Given the description of an element on the screen output the (x, y) to click on. 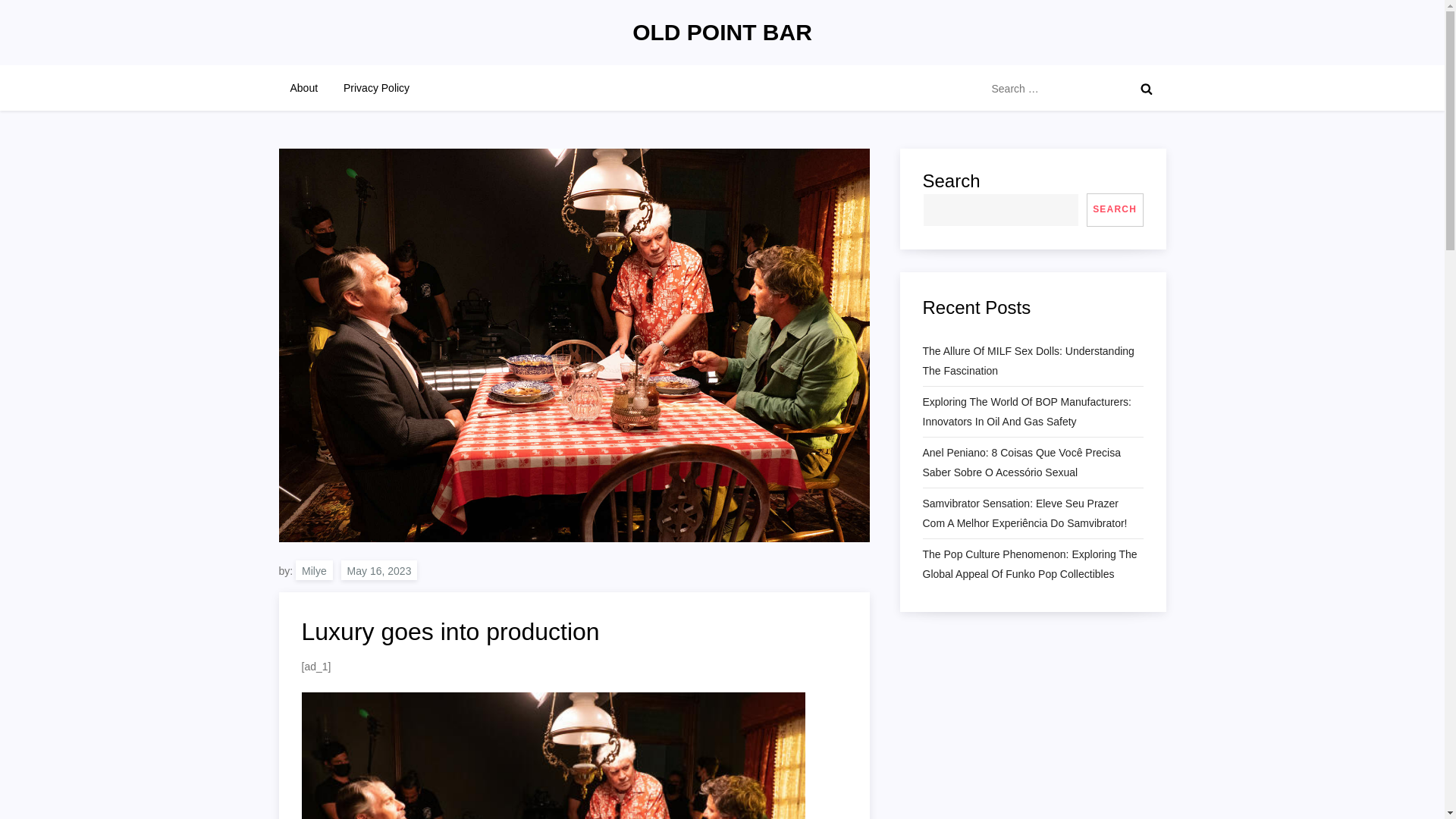
SEARCH (1114, 209)
Milye (314, 569)
May 16, 2023 (378, 569)
The Allure Of MILF Sex Dolls: Understanding The Fascination (1031, 360)
About (304, 87)
OLD POINT BAR (721, 32)
Privacy Policy (375, 87)
